Given the description of an element on the screen output the (x, y) to click on. 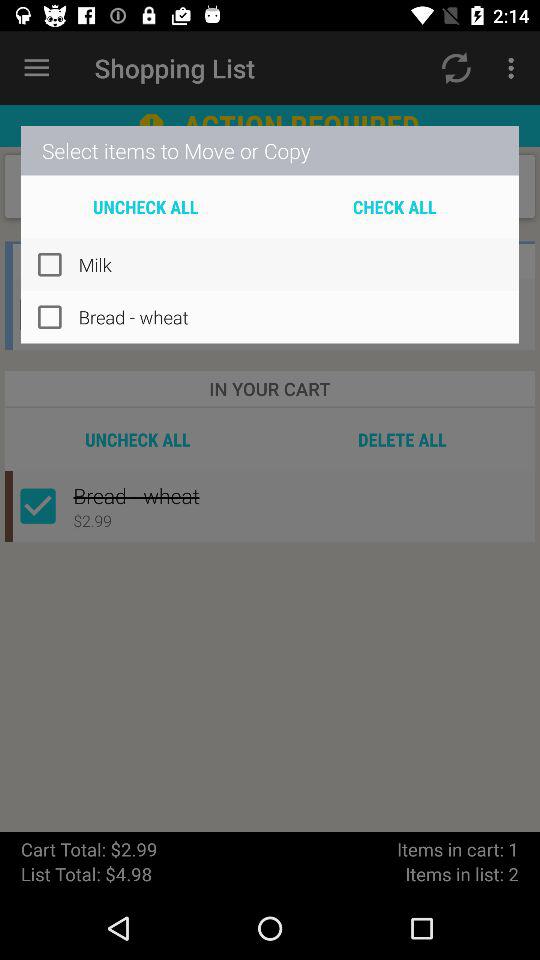
turn off select items to (270, 150)
